Given the description of an element on the screen output the (x, y) to click on. 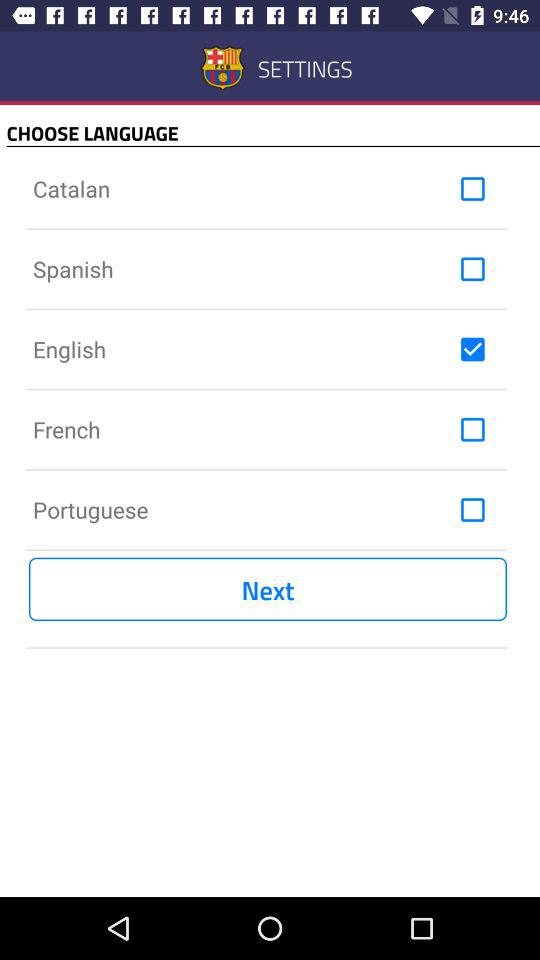
choose portuguese (472, 510)
